Given the description of an element on the screen output the (x, y) to click on. 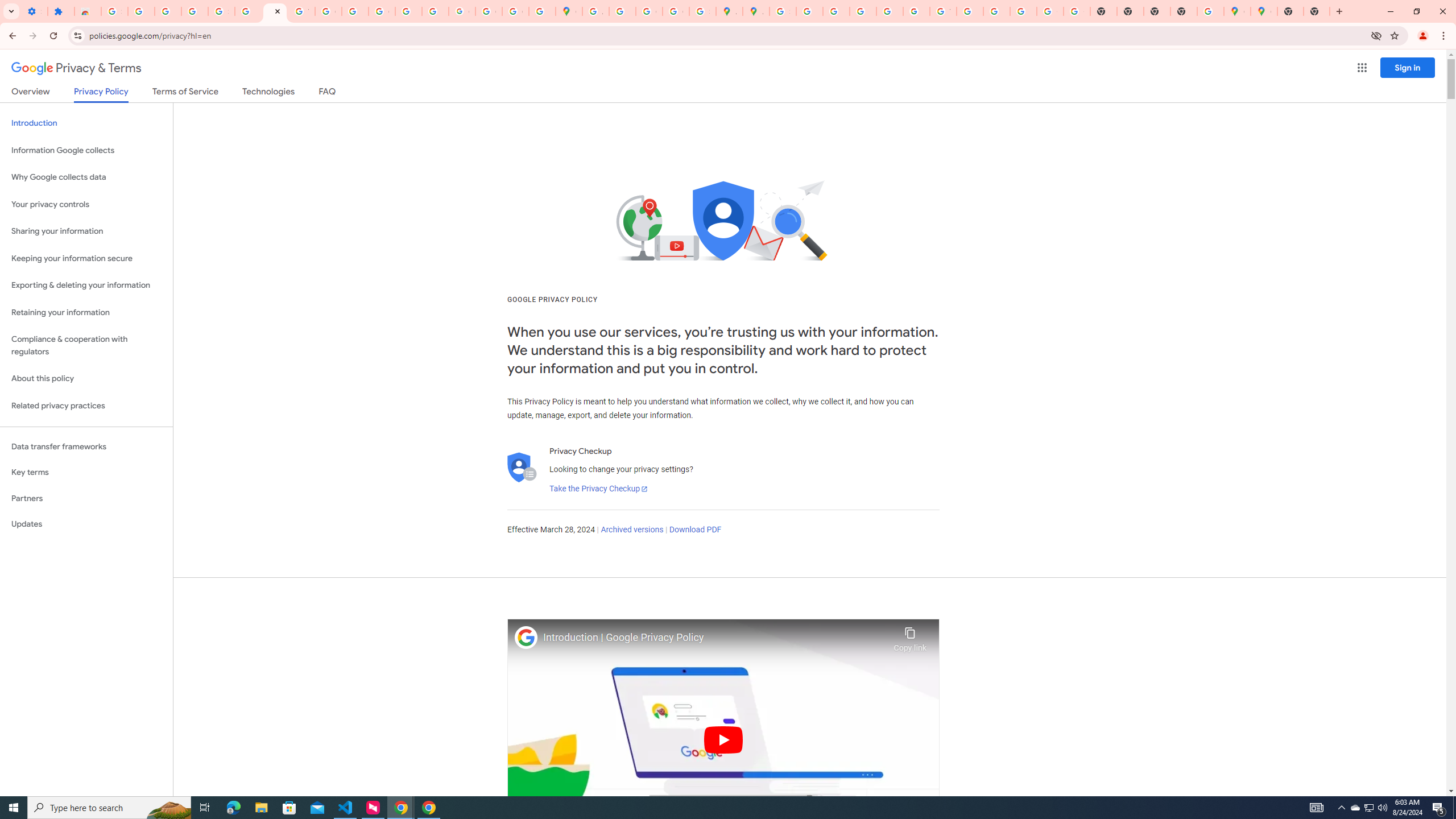
Privacy Help Center - Policies Help (836, 11)
Extensions (61, 11)
YouTube (943, 11)
Delete photos & videos - Computer - Google Photos Help (141, 11)
Sharing your information (86, 230)
Partners (86, 497)
Information Google collects (86, 150)
Related privacy practices (86, 405)
